Given the description of an element on the screen output the (x, y) to click on. 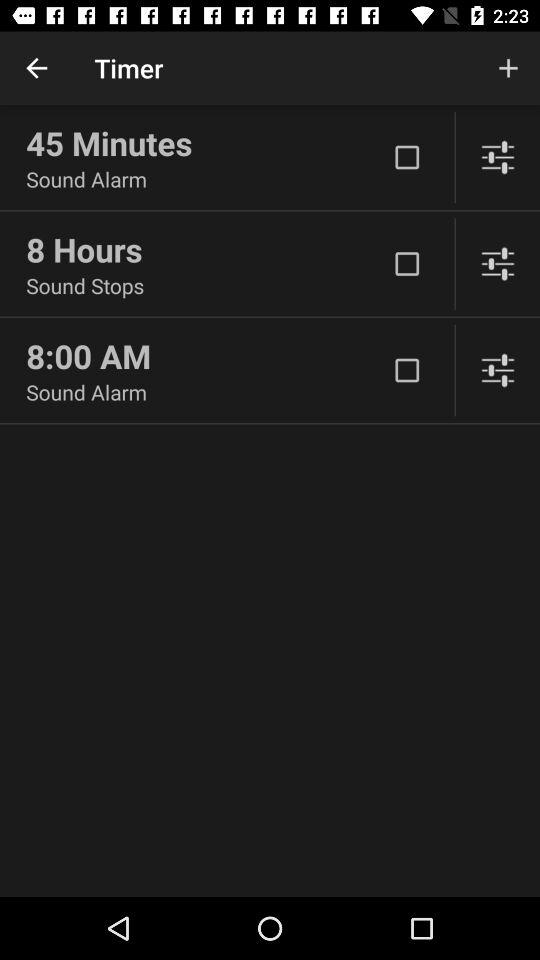
choose icon below 8 hours item (206, 285)
